Given the description of an element on the screen output the (x, y) to click on. 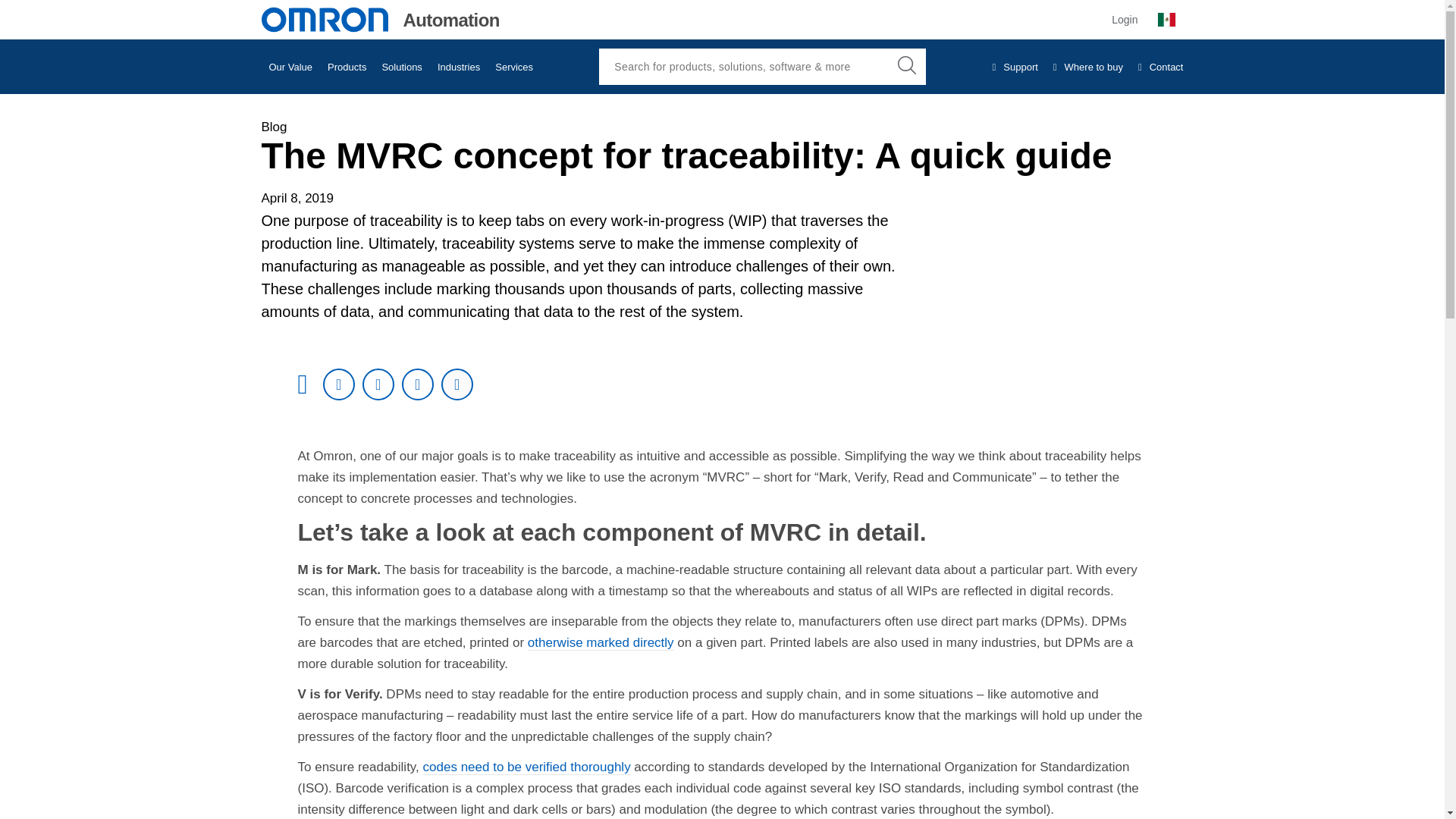
Products (347, 66)
Login (1124, 19)
Automation (379, 19)
Our Value (290, 66)
